Given the description of an element on the screen output the (x, y) to click on. 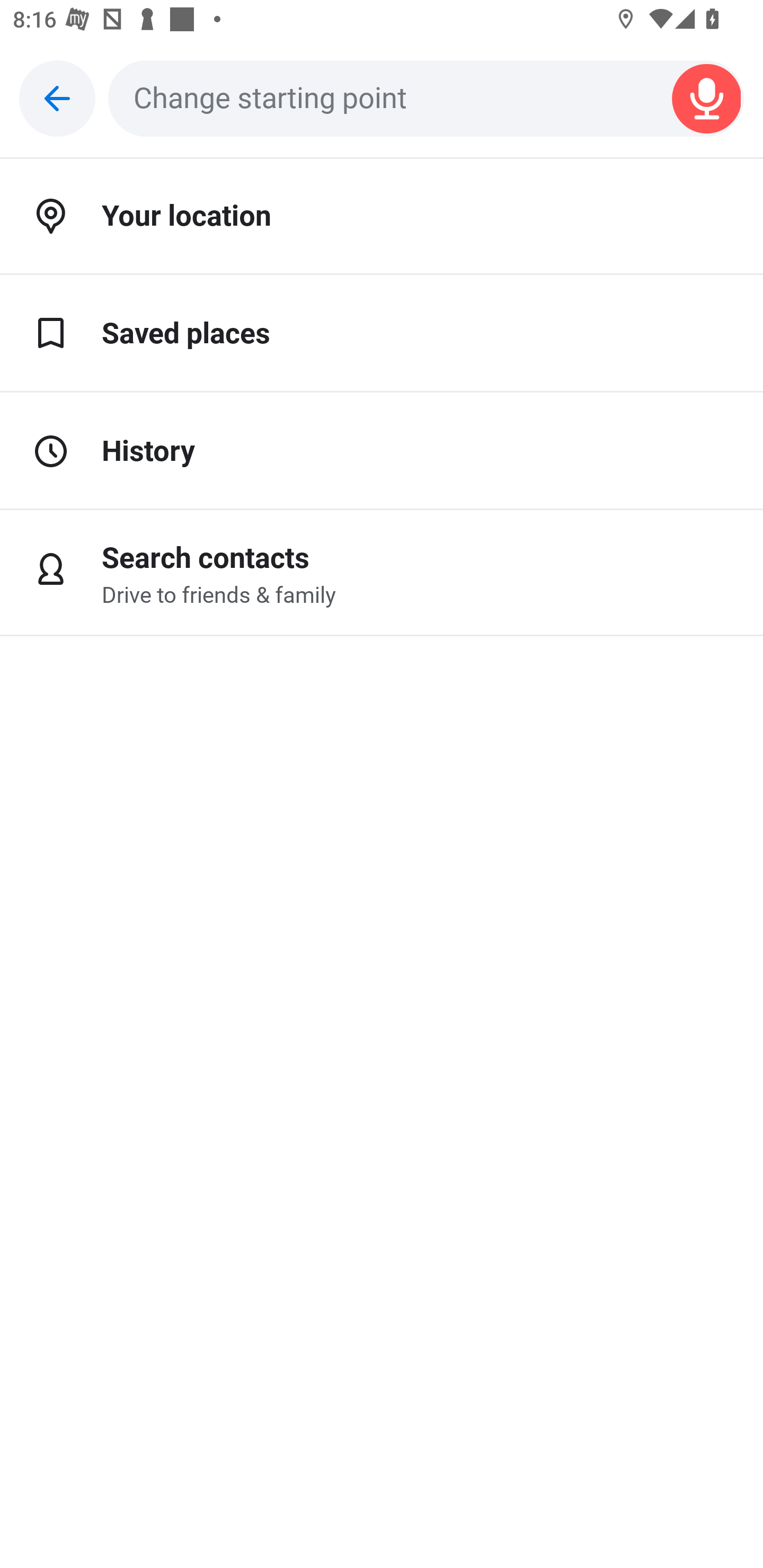
Change starting point sideMenuSearchBox (425, 98)
Your location (381, 216)
Saved places (381, 334)
ACTION_CELL_ICON Plan a drive ACTION_CELL_TEXT (381, 438)
Search contacts Drive to friends & family (381, 573)
